Given the description of an element on the screen output the (x, y) to click on. 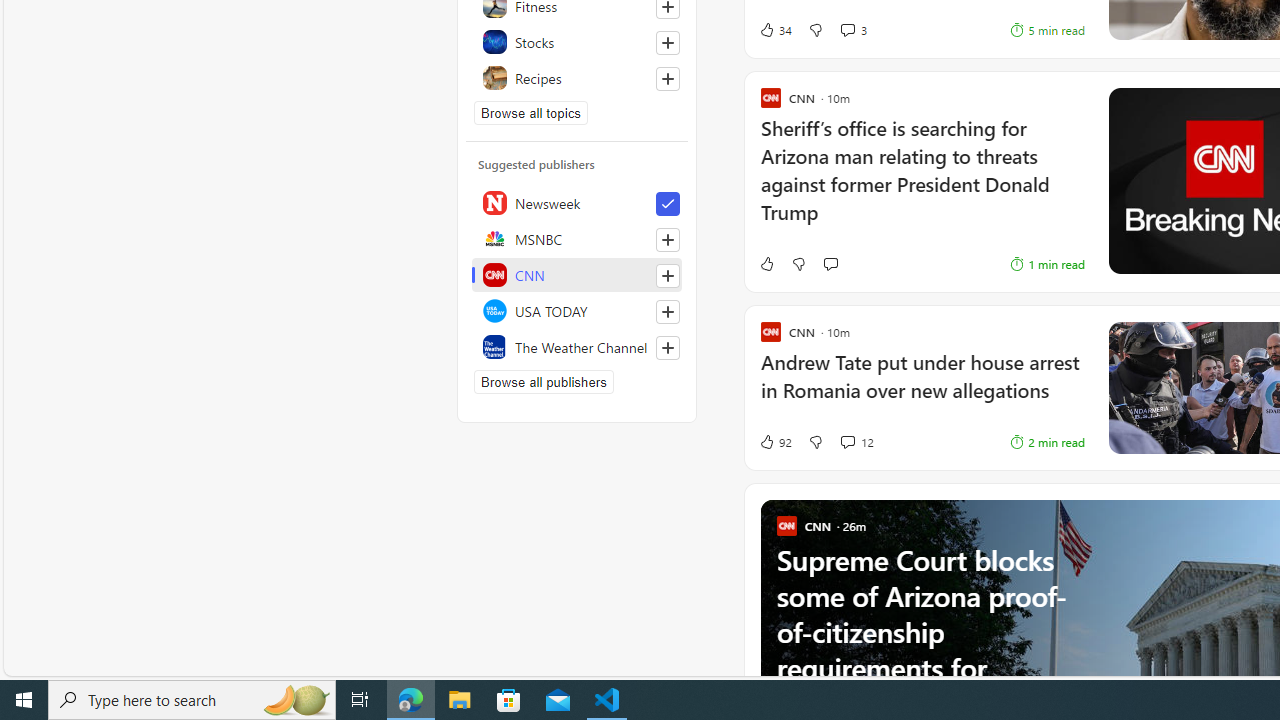
Follow this source (667, 348)
34 Like (775, 30)
Unfollow this source (667, 204)
Browse all topics (530, 112)
CNN (577, 274)
View comments 12 Comment (825, 442)
Follow this source (667, 348)
Newsweek (577, 202)
Follow this topic (667, 78)
Recipes (577, 78)
View comments 12 Comment (834, 442)
Stocks (577, 42)
